Given the description of an element on the screen output the (x, y) to click on. 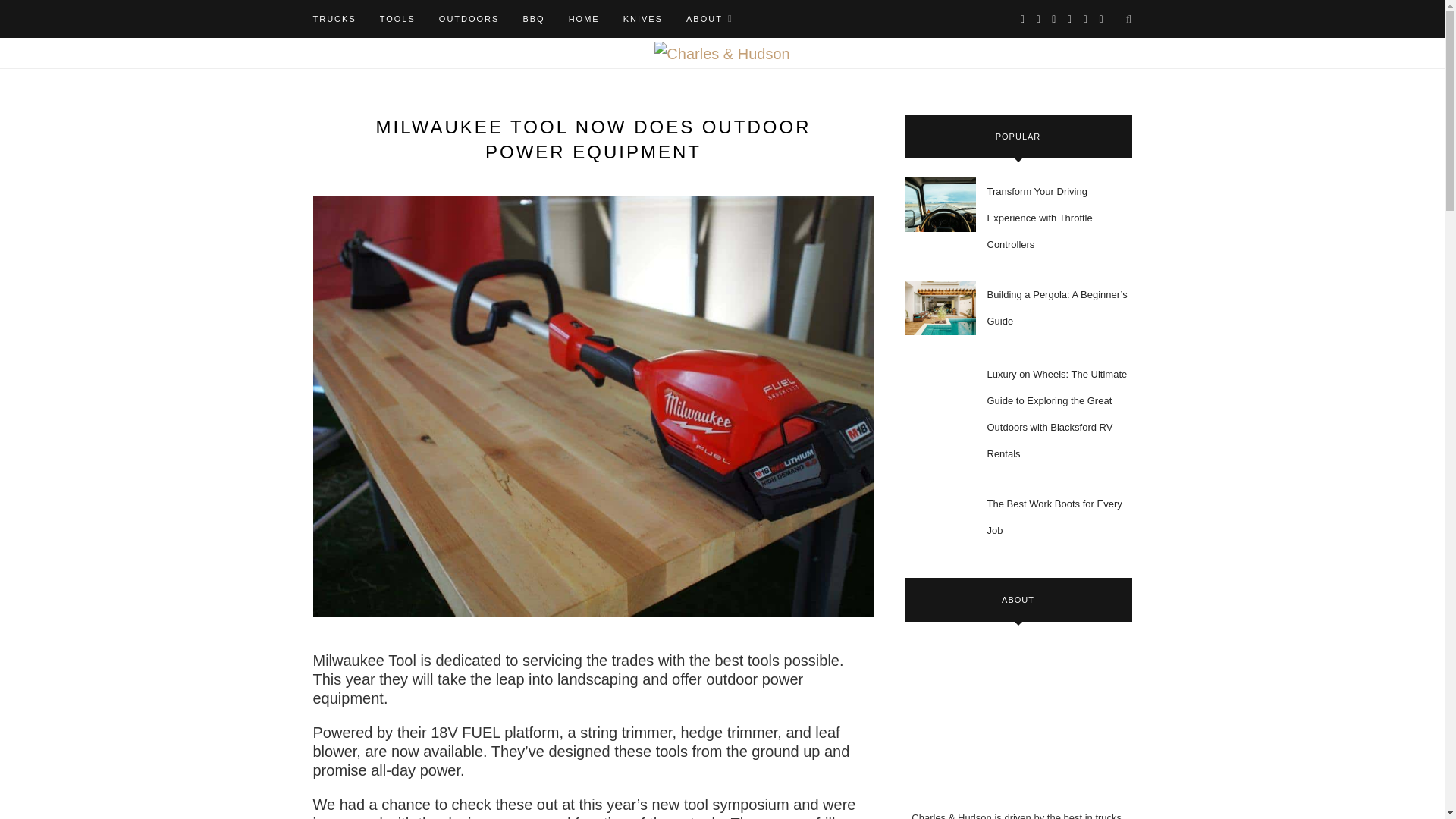
TOOLS (397, 18)
KNIVES (642, 18)
The Best Work Boots for Every Job 7 (939, 516)
OUTDOORS (469, 18)
ABOUT (709, 18)
TRUCKS (334, 18)
